Given the description of an element on the screen output the (x, y) to click on. 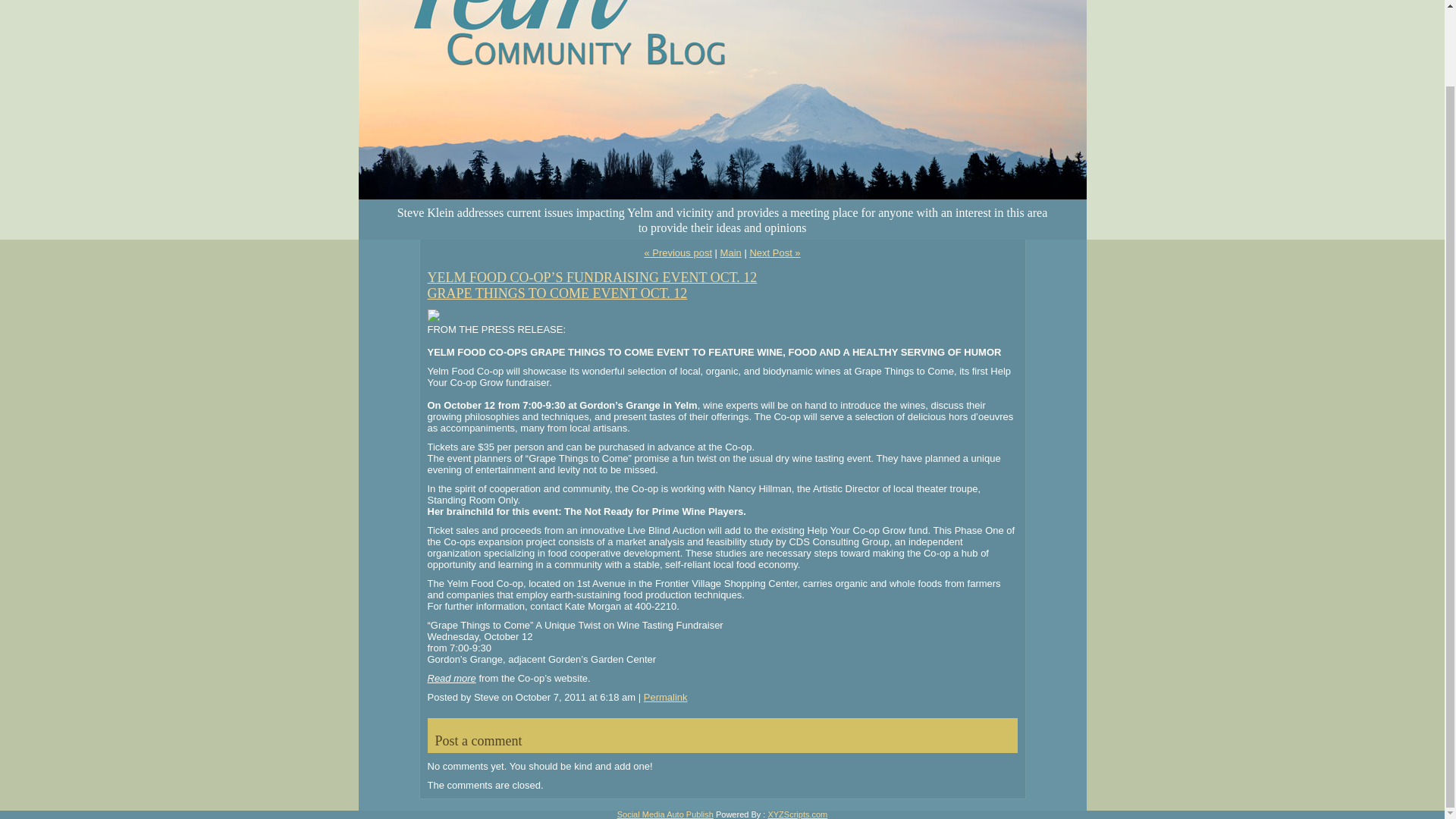
Main (730, 252)
Read more (452, 677)
Permalink (665, 696)
